Given the description of an element on the screen output the (x, y) to click on. 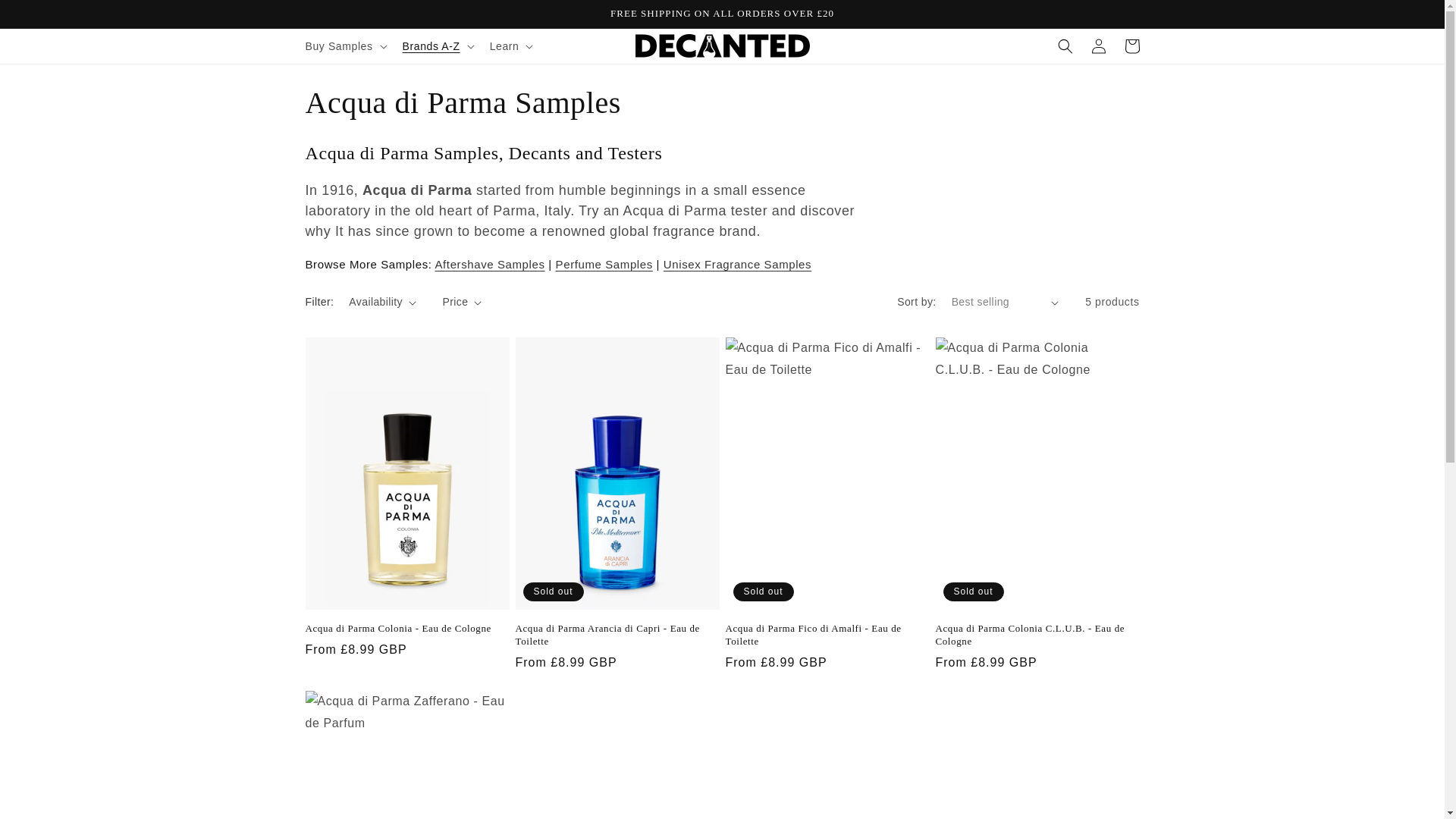
aftershave samples (489, 264)
perfume samples (604, 264)
unisex fragrance samples (736, 264)
Skip to content (45, 17)
